Given the description of an element on the screen output the (x, y) to click on. 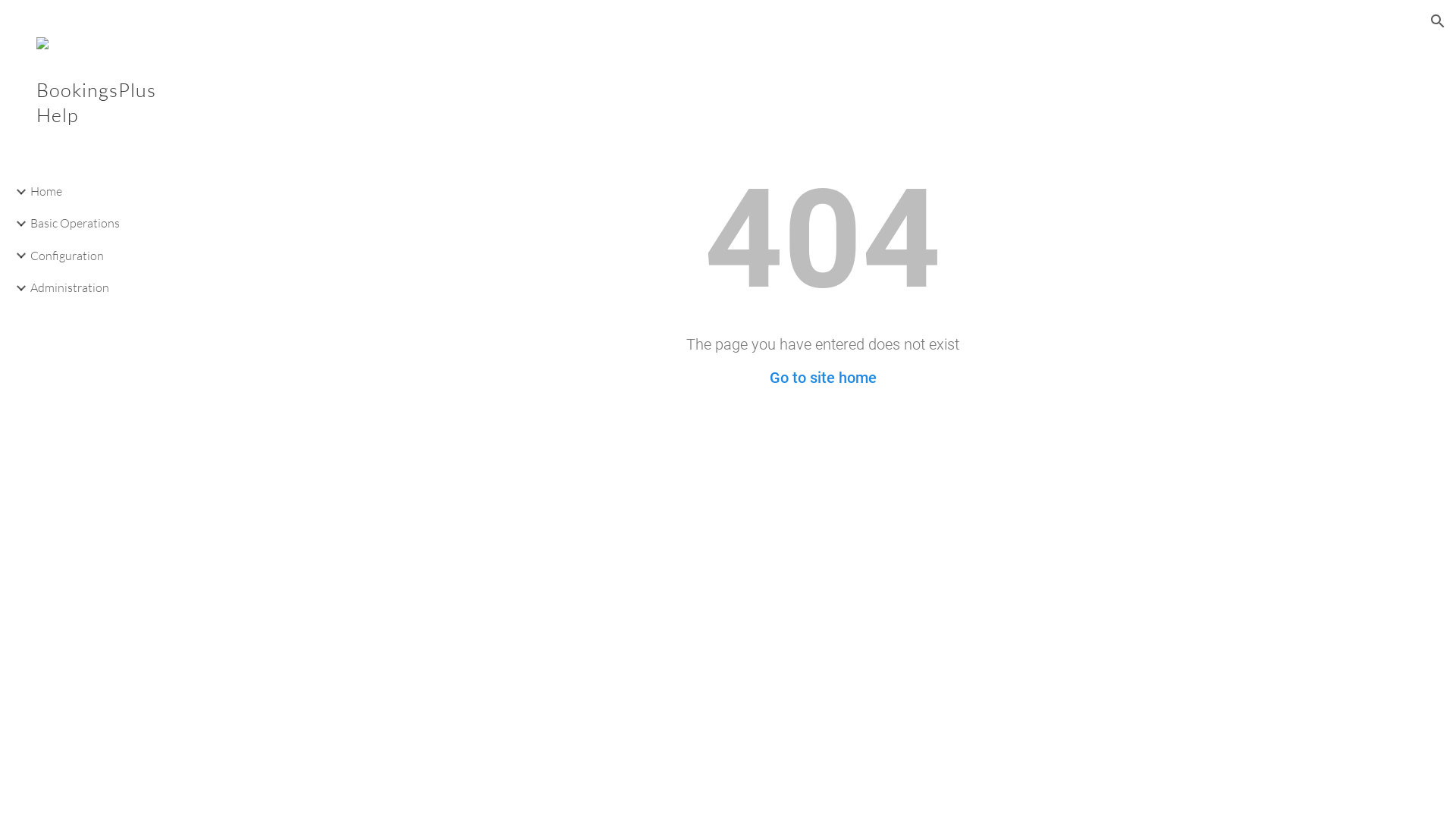
Go to site home Element type: text (821, 377)
BookingsPlus Help Element type: text (94, 122)
Expand/Collapse Element type: hover (16, 191)
Basic Operations Element type: text (103, 223)
Expand/Collapse Element type: hover (16, 223)
Home Element type: text (103, 191)
Configuration Element type: text (103, 255)
Expand/Collapse Element type: hover (16, 288)
Administration Element type: text (103, 287)
Expand/Collapse Element type: hover (16, 255)
